Given the description of an element on the screen output the (x, y) to click on. 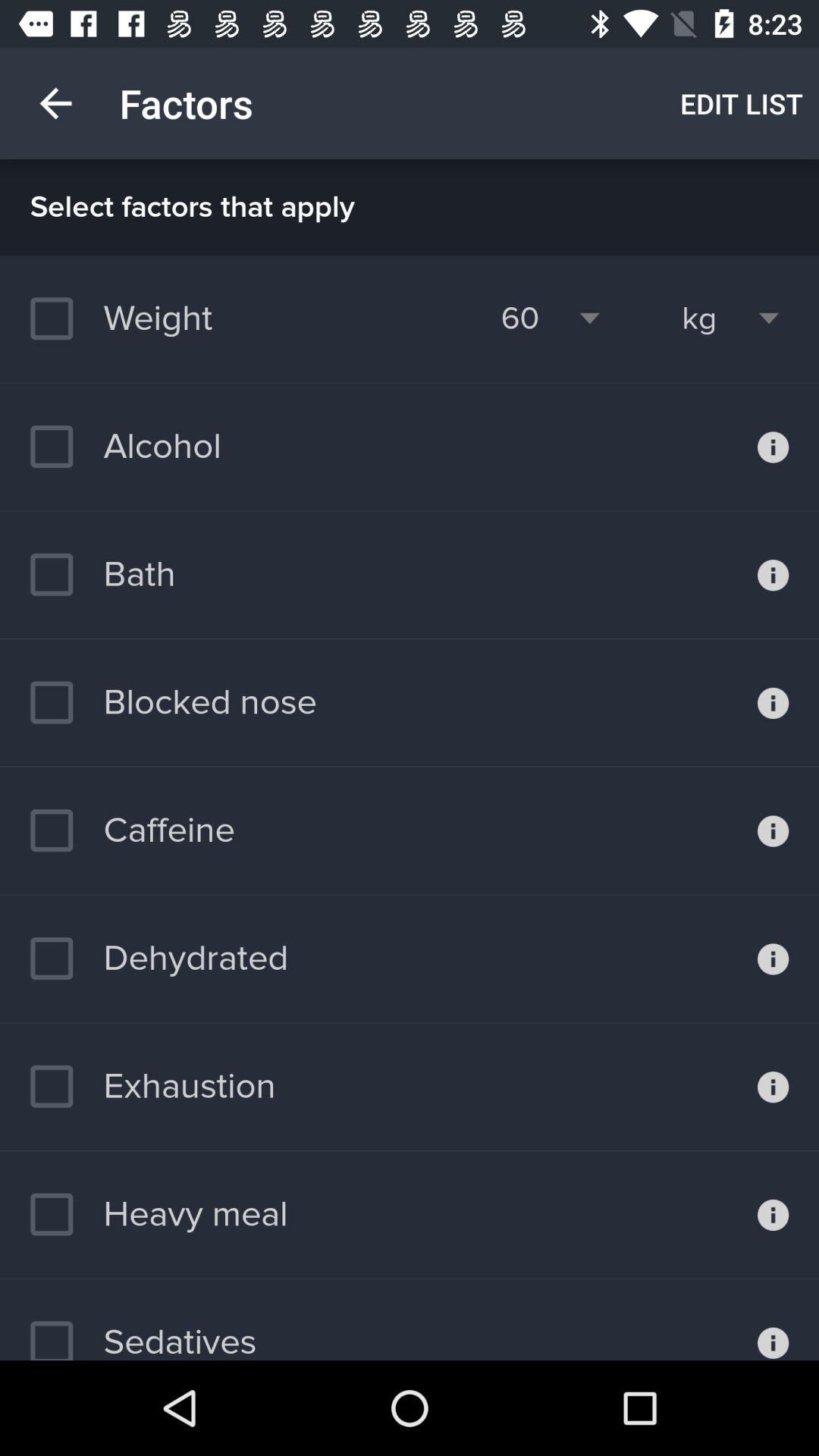
turn off the icon to the left of the factors (55, 103)
